Given the description of an element on the screen output the (x, y) to click on. 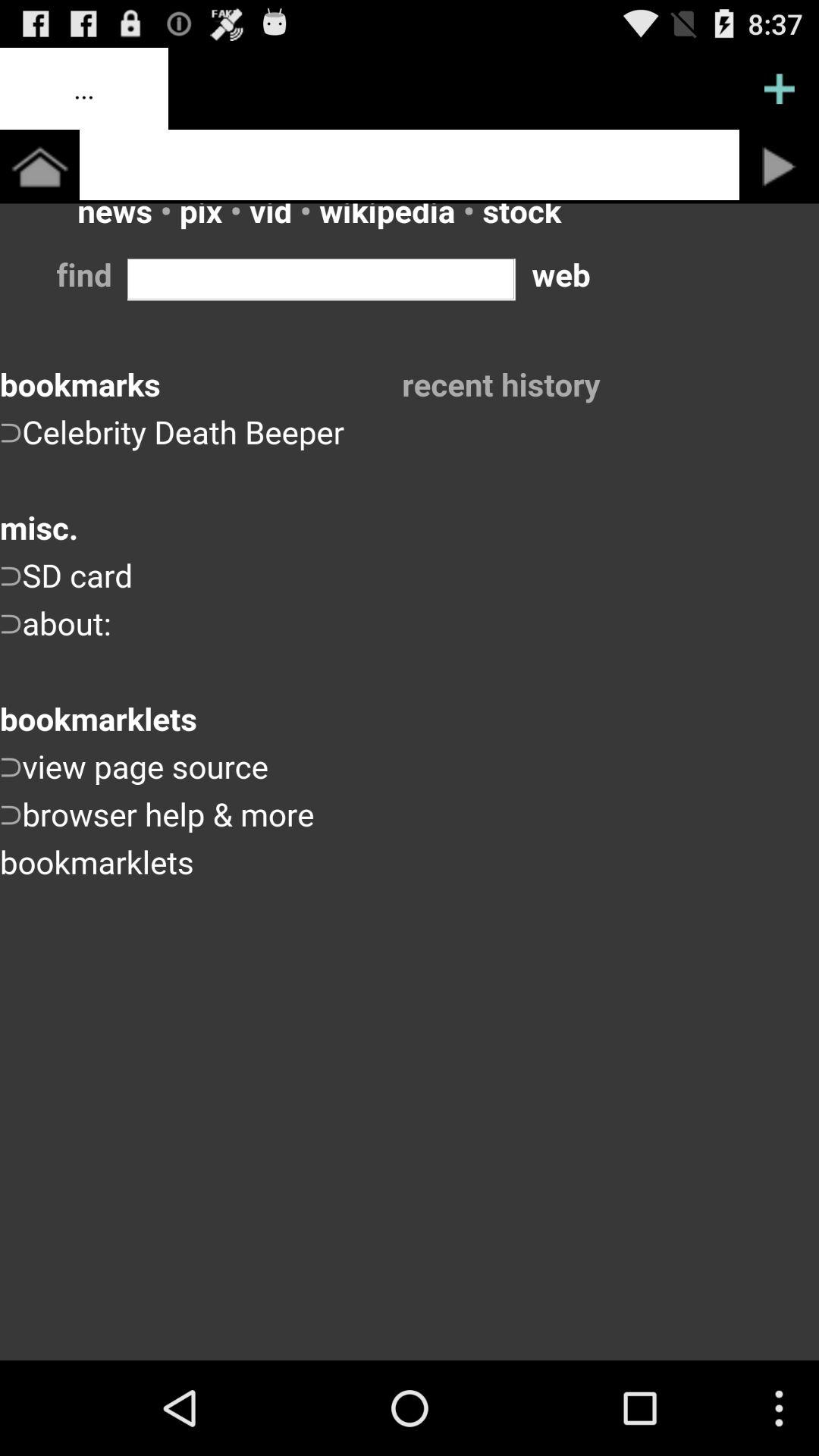
next arrow button (779, 166)
